Given the description of an element on the screen output the (x, y) to click on. 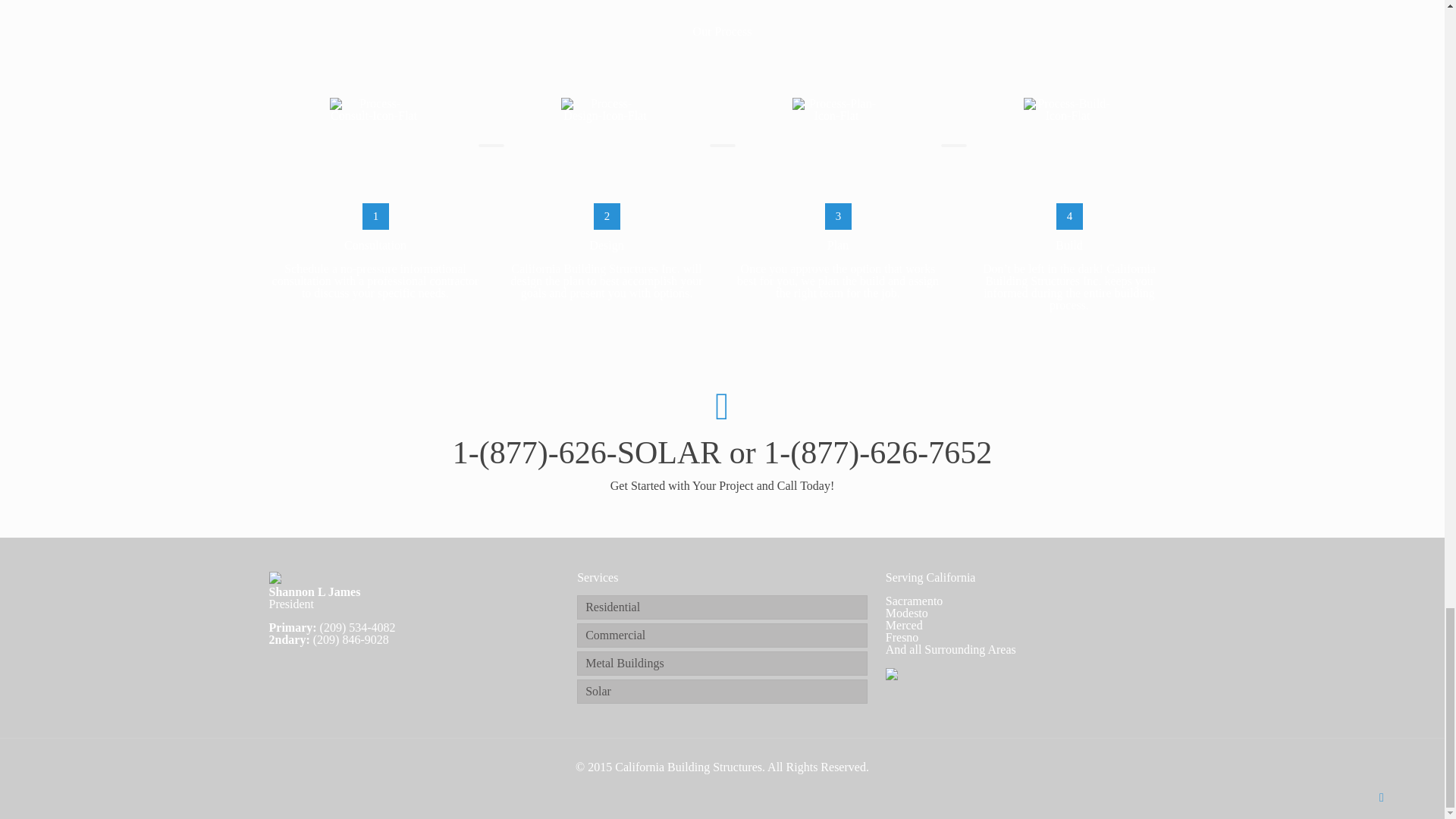
Metal Buildings (721, 663)
Solar (721, 691)
Residential (721, 607)
Commercial (721, 635)
